Given the description of an element on the screen output the (x, y) to click on. 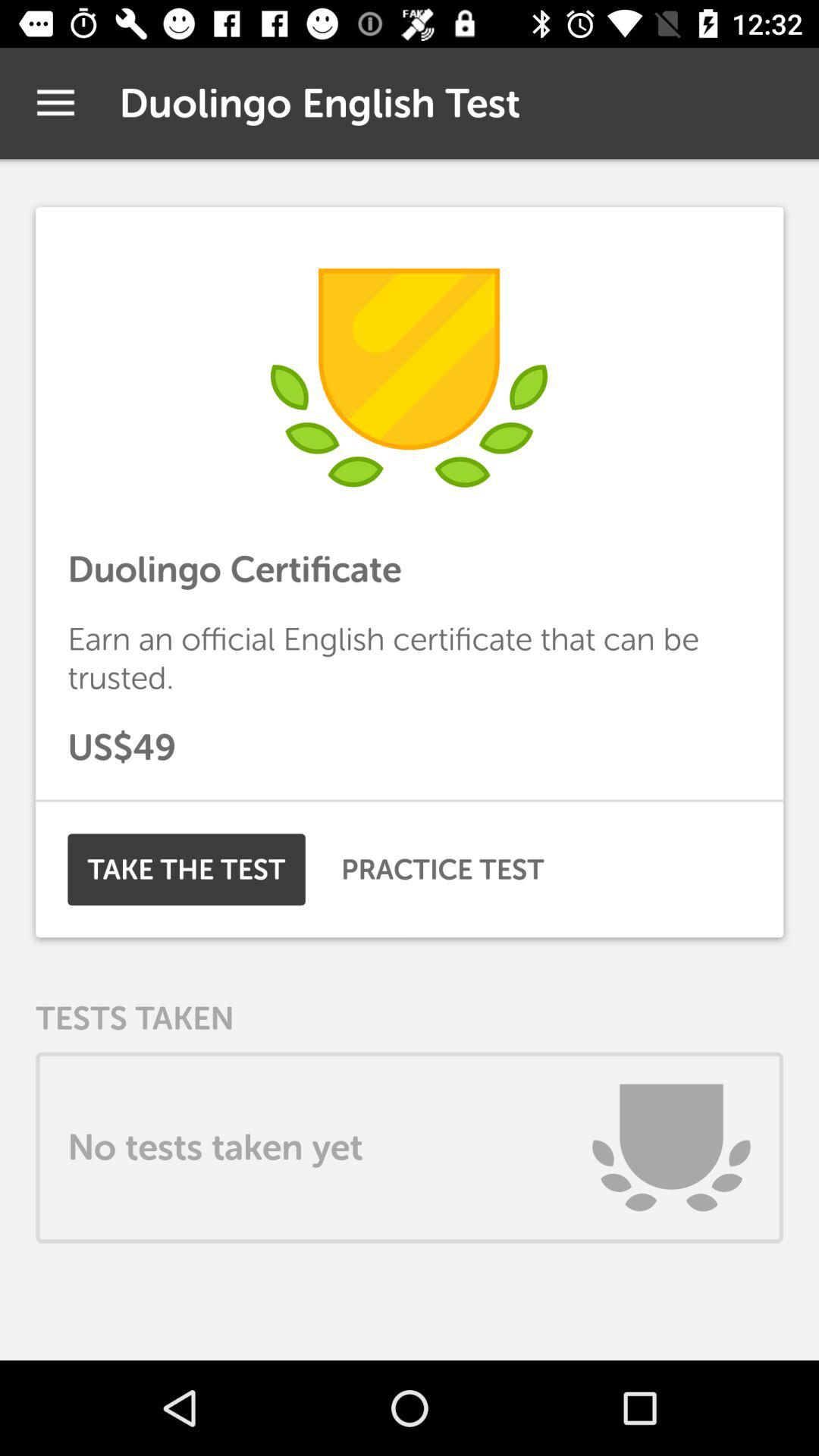
turn off the earn an official (409, 658)
